Given the description of an element on the screen output the (x, y) to click on. 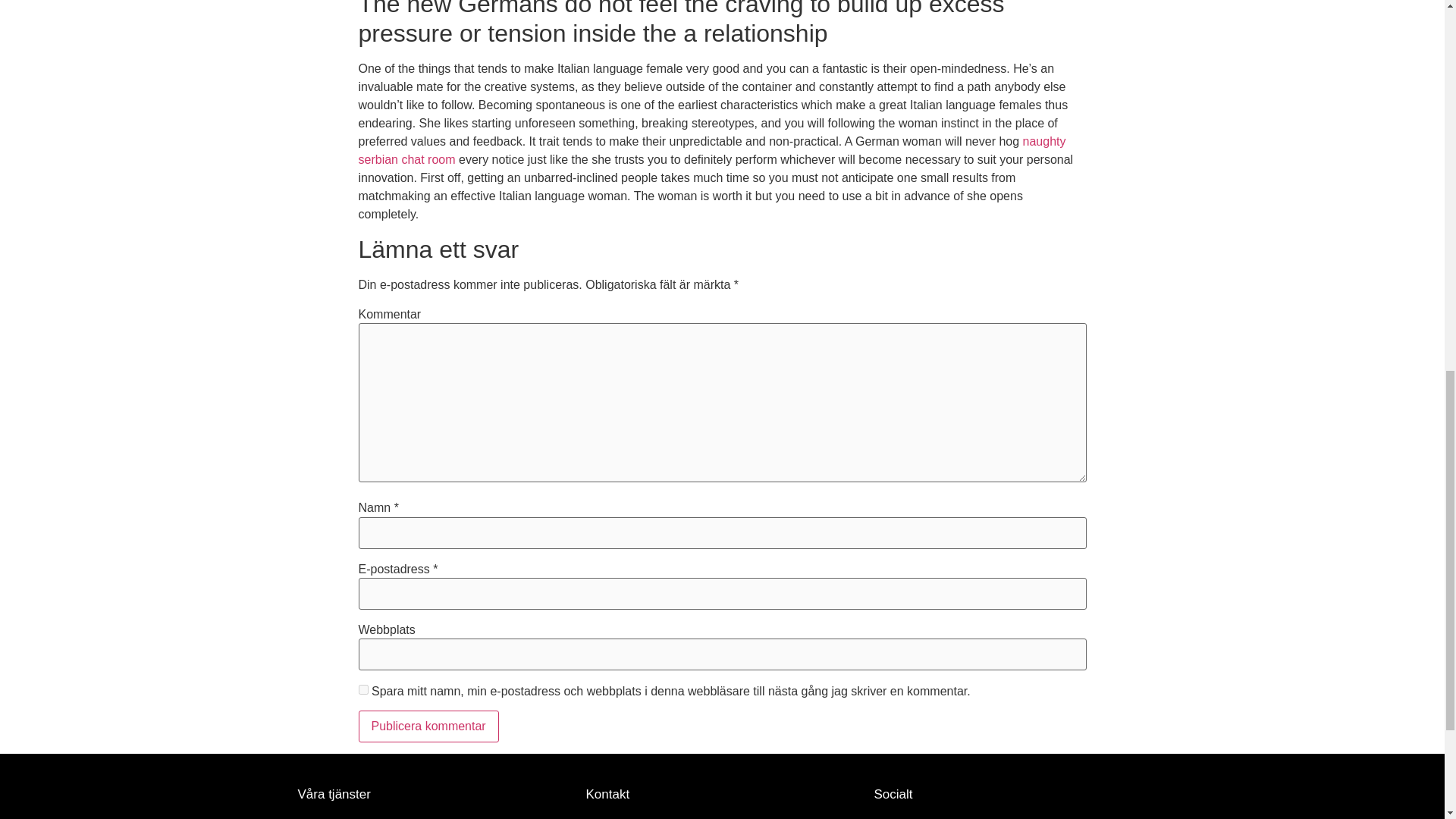
yes (363, 689)
08-684 187 44 (722, 817)
naughty serbian chat room (711, 150)
Publicera kommentar (427, 726)
Revision (320, 818)
Publicera kommentar (427, 726)
